Given the description of an element on the screen output the (x, y) to click on. 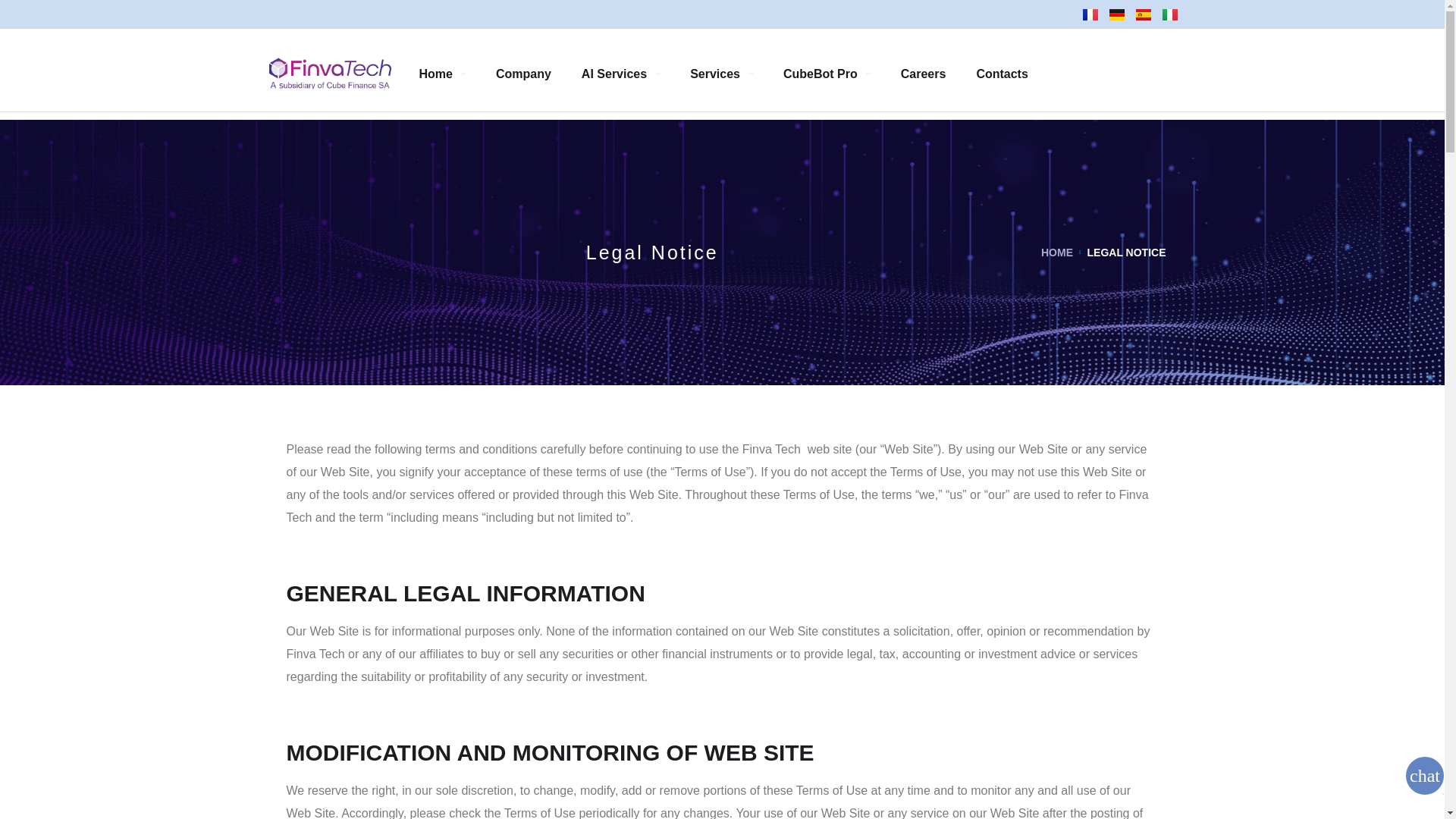
AI Services (619, 73)
CubeBot Pro (826, 73)
